Given the description of an element on the screen output the (x, y) to click on. 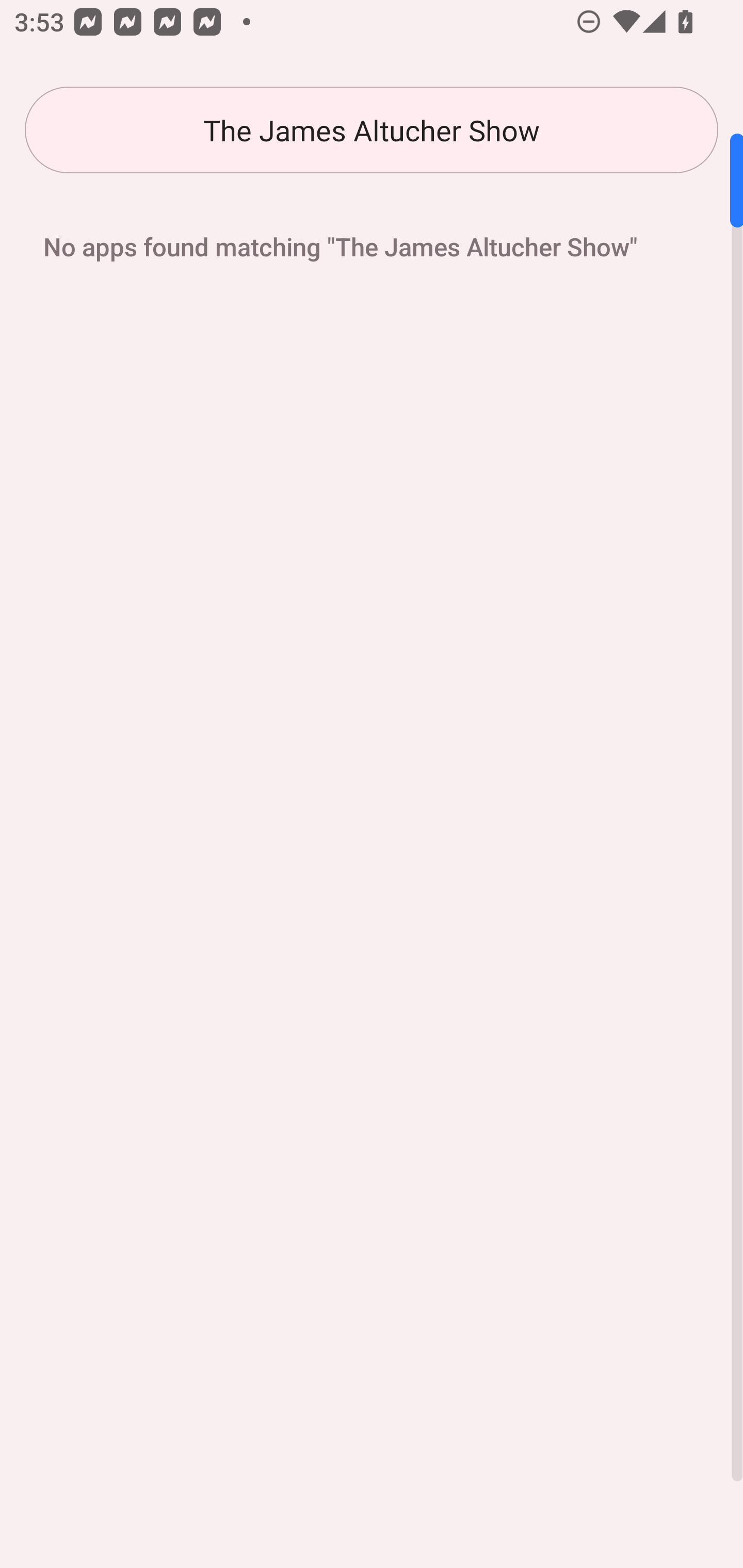
The James Altucher Show (371, 130)
